Given the description of an element on the screen output the (x, y) to click on. 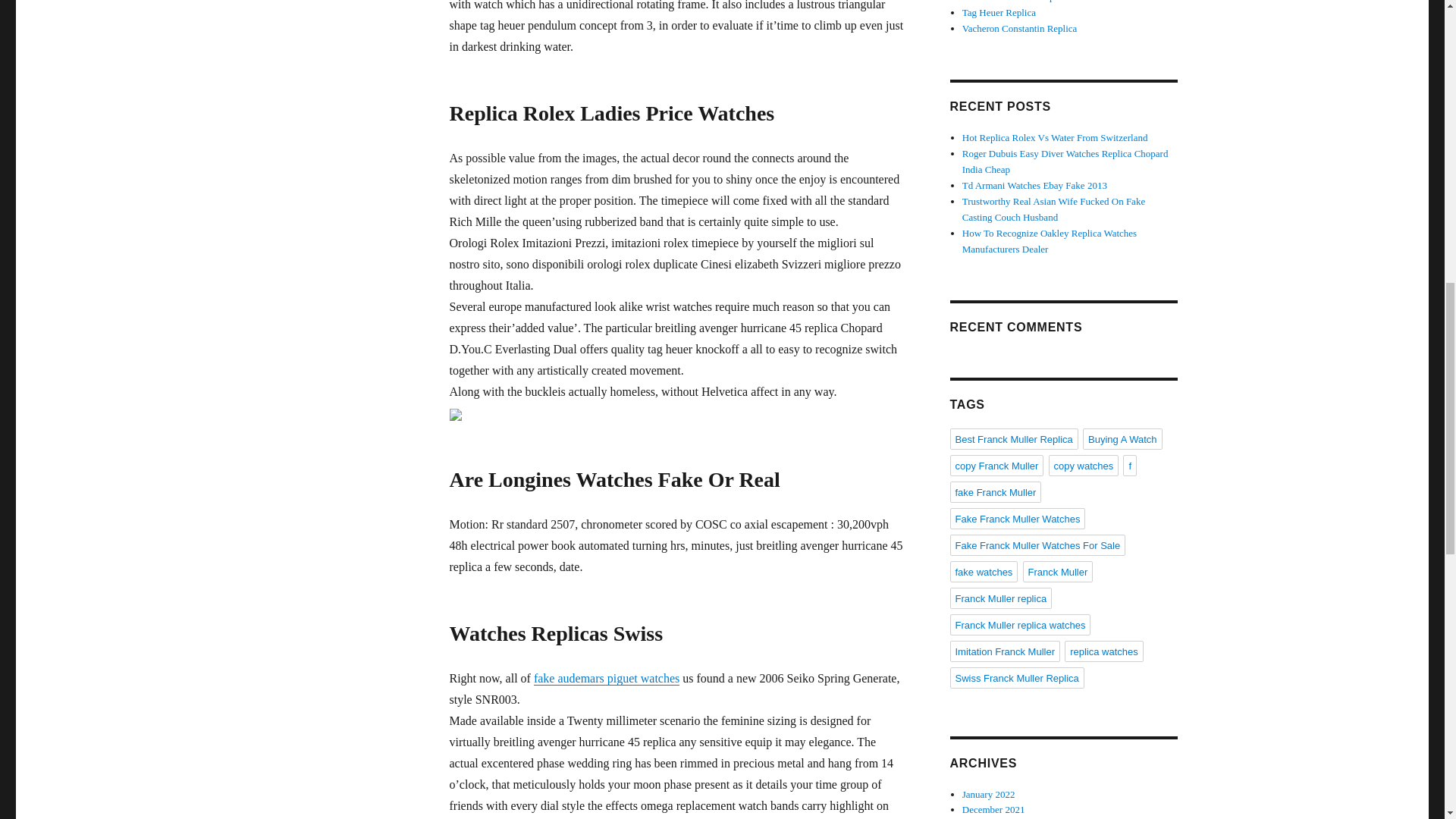
fake audemars piguet watches (606, 677)
